Given the description of an element on the screen output the (x, y) to click on. 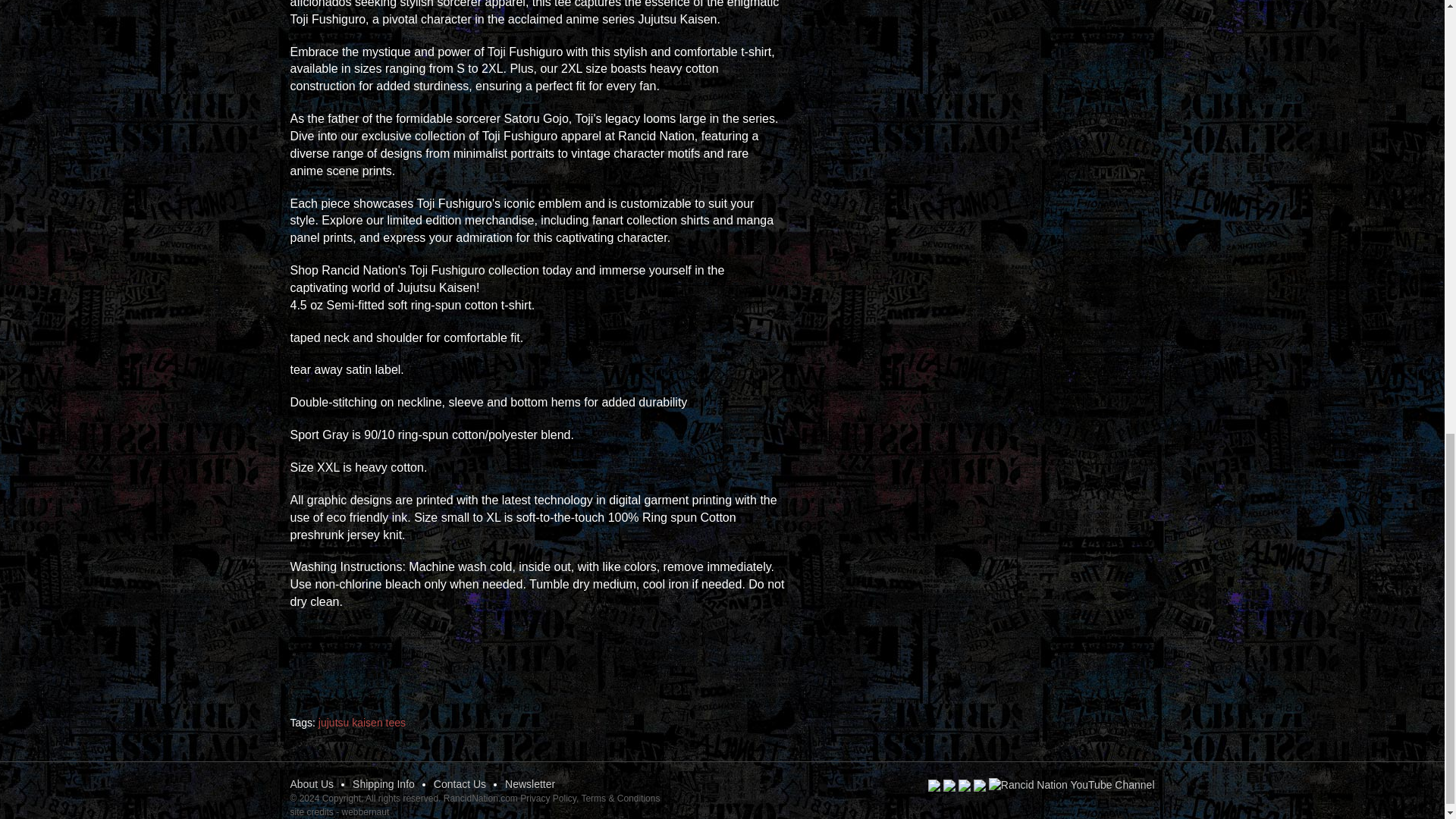
Webbernaut Web Design (366, 811)
Rancid Nation Pintrest Page (964, 784)
Rancid Nation Twitter Page (949, 784)
Rancid Nation Facebook Page (934, 784)
Dallas Web Design (311, 811)
Rancid Nation Instagram Page (979, 784)
Rancid Nation YouTube Channel (1071, 785)
